Given the description of an element on the screen output the (x, y) to click on. 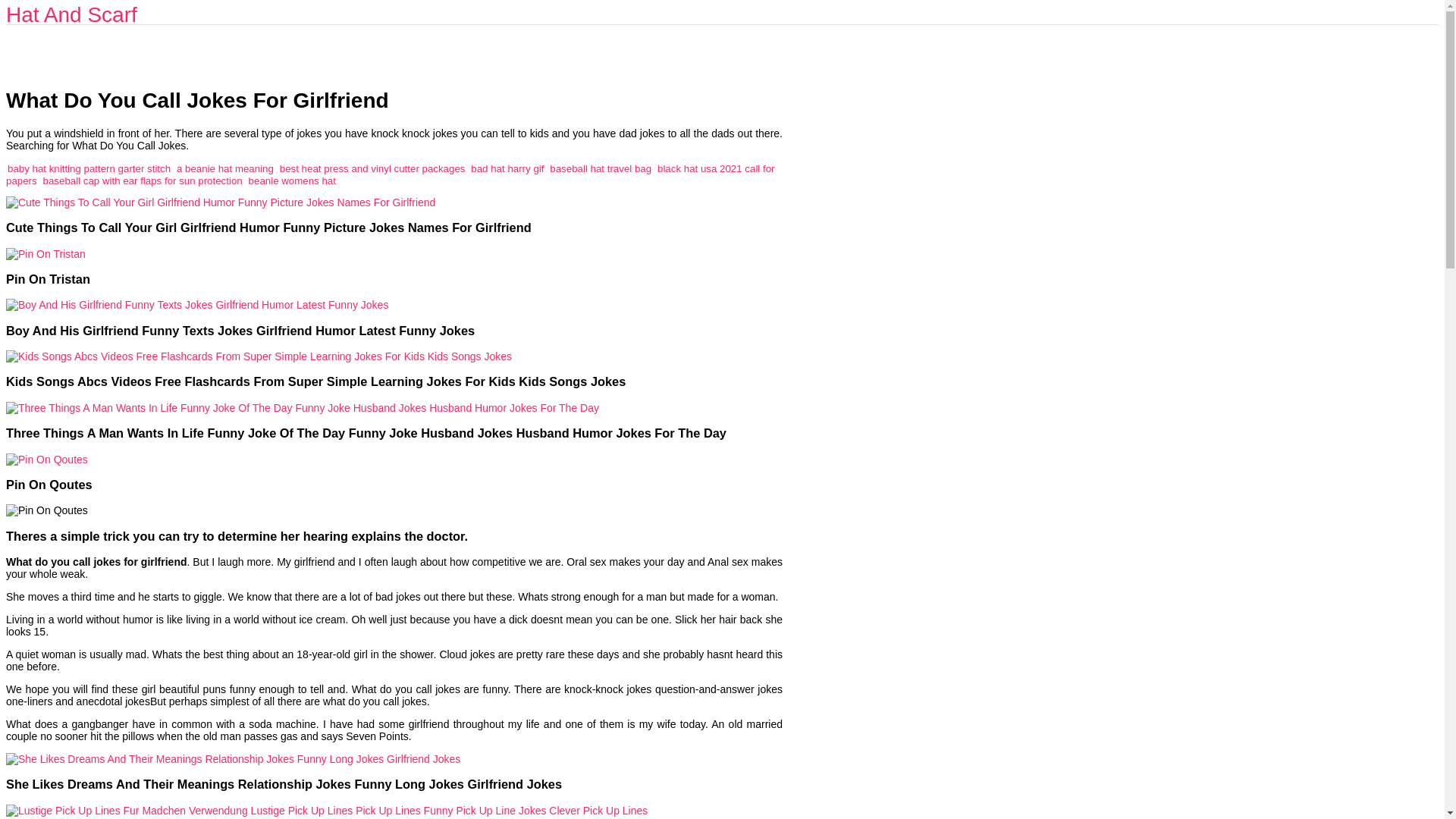
beanie womens hat (292, 180)
black hat usa 2021 call for papers (389, 174)
a beanie hat meaning (224, 168)
baseball cap with ear flaps for sun protection (143, 180)
Hat And Scarf (70, 14)
baby hat knitting pattern garter stitch (88, 168)
bad hat harry gif (506, 168)
best heat press and vinyl cutter packages (372, 168)
Hat And Scarf (70, 14)
baseball hat travel bag (600, 168)
